Given the description of an element on the screen output the (x, y) to click on. 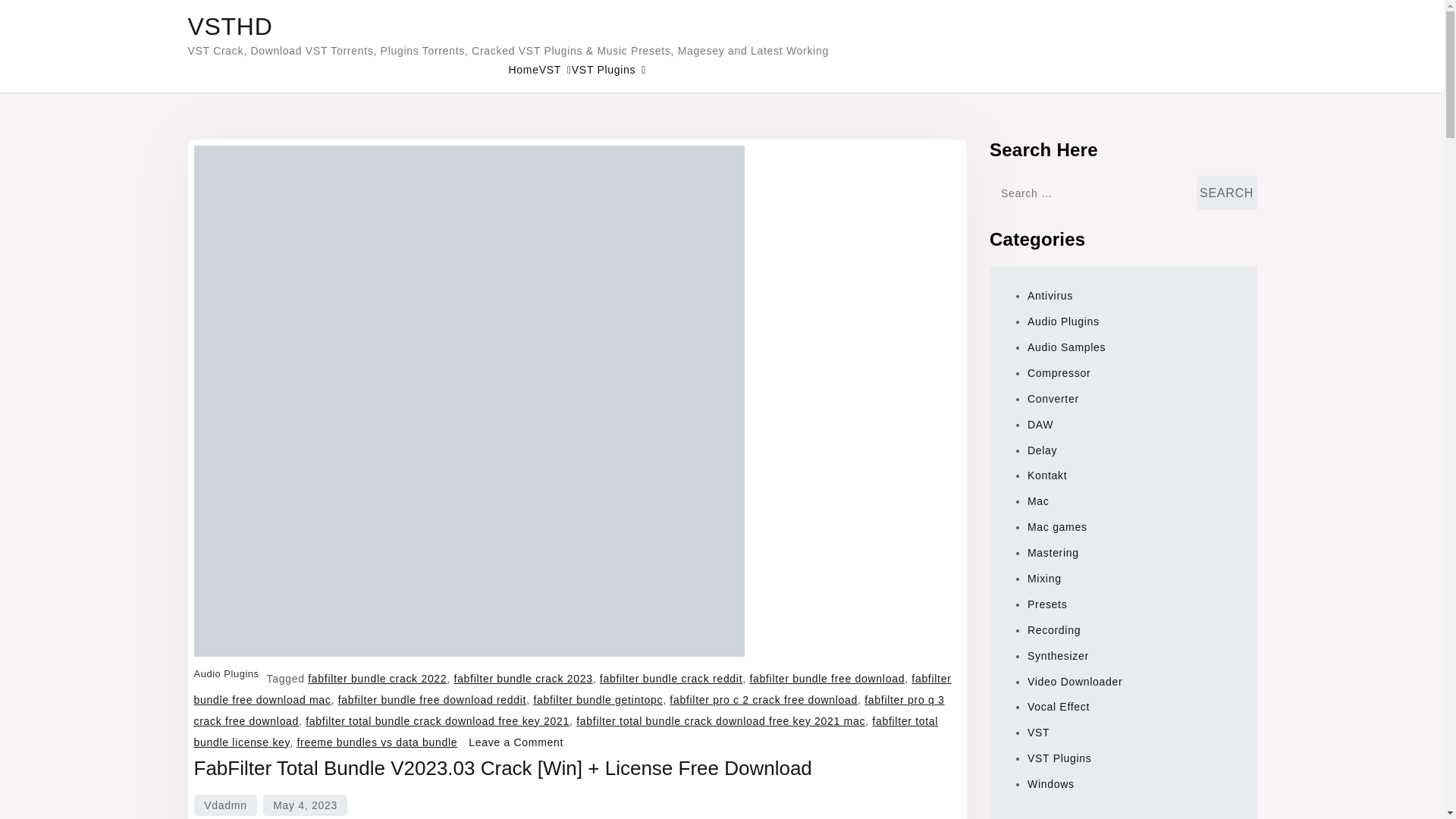
Skip to content (42, 11)
Vocal Effect (96, 292)
DAW (80, 196)
Synthesizer (94, 278)
Delay (81, 210)
Presets (83, 265)
Kontakt (86, 224)
VST (47, 128)
Mastering (91, 142)
VSTHD (25, 38)
